Given the description of an element on the screen output the (x, y) to click on. 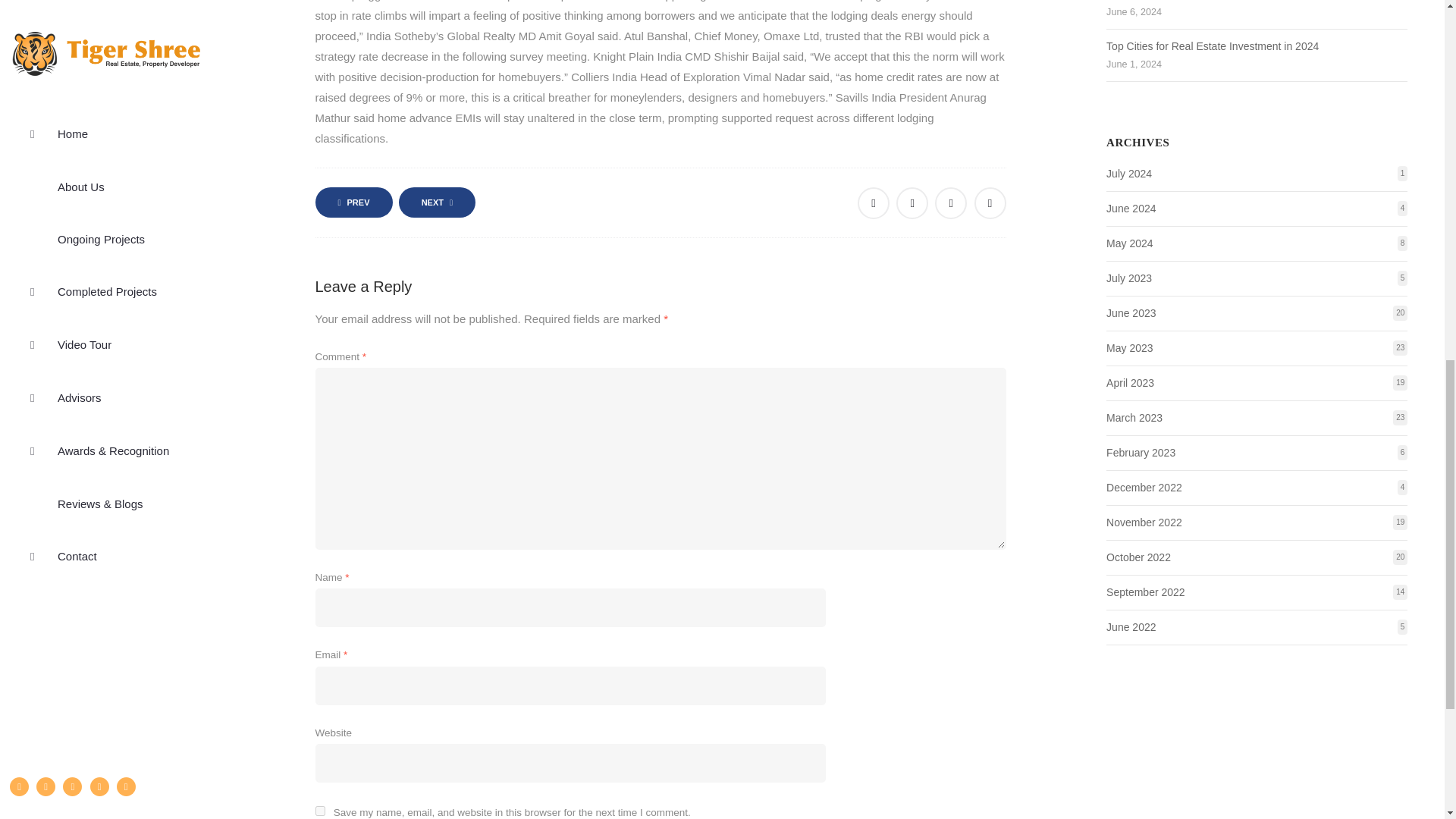
yes (319, 810)
PREV (354, 202)
NEXT (437, 202)
Twitter (912, 203)
Share on Facebook (873, 203)
